Given the description of an element on the screen output the (x, y) to click on. 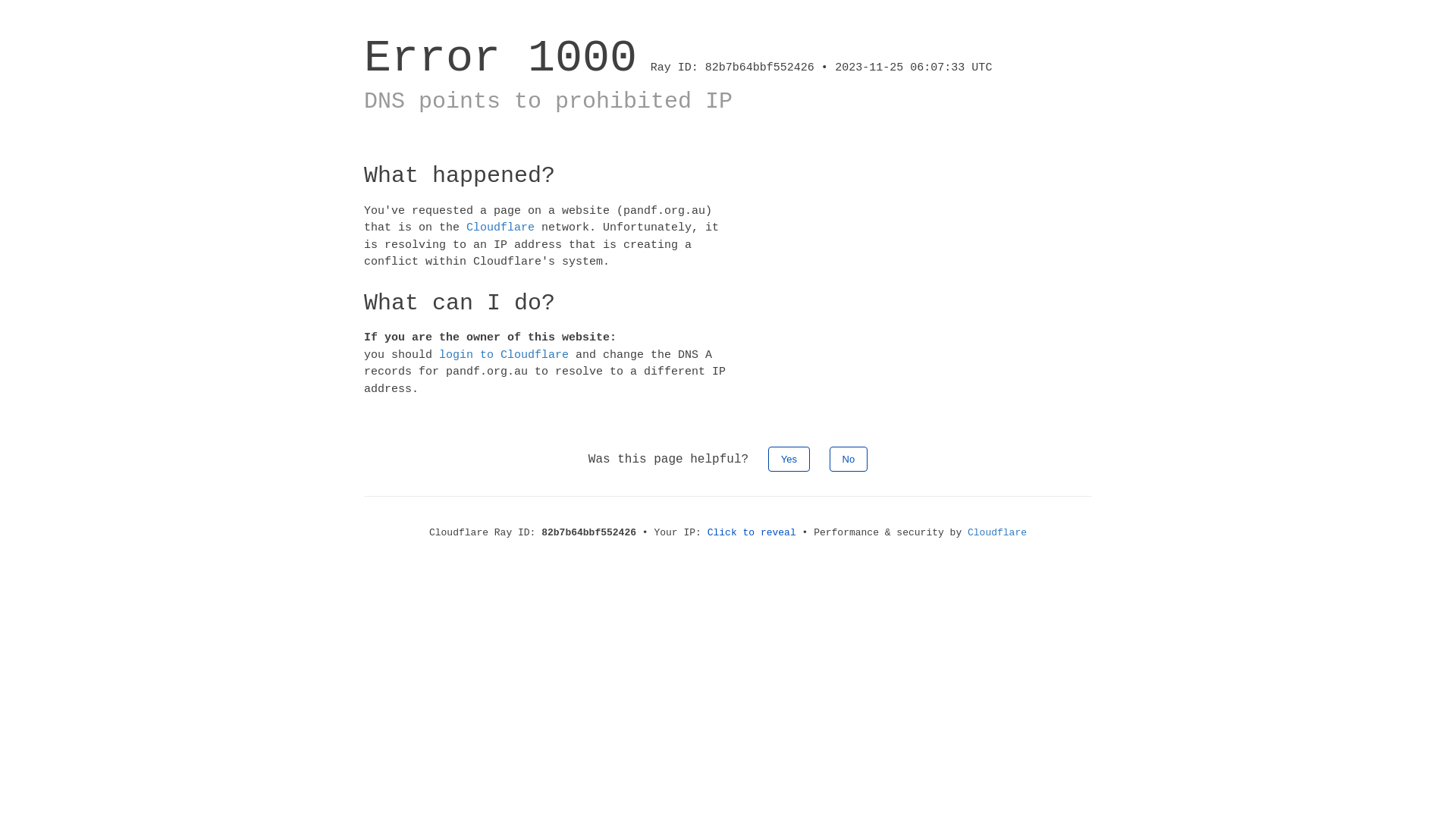
No Element type: text (848, 458)
Cloudflare Element type: text (996, 532)
Click to reveal Element type: text (751, 532)
Cloudflare Element type: text (500, 227)
Yes Element type: text (788, 458)
login to Cloudflare Element type: text (503, 354)
